Given the description of an element on the screen output the (x, y) to click on. 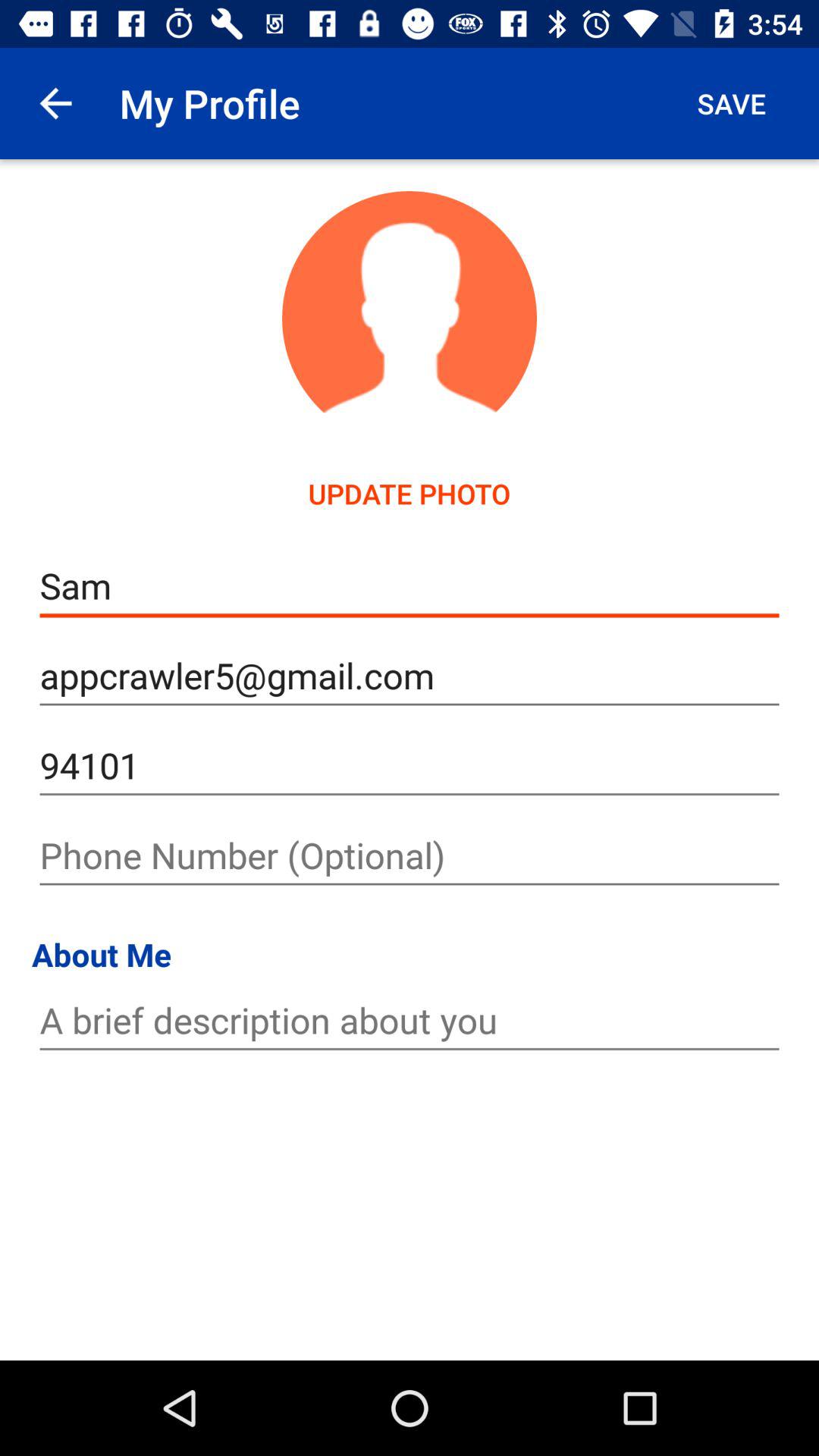
open 94101 icon (409, 766)
